Given the description of an element on the screen output the (x, y) to click on. 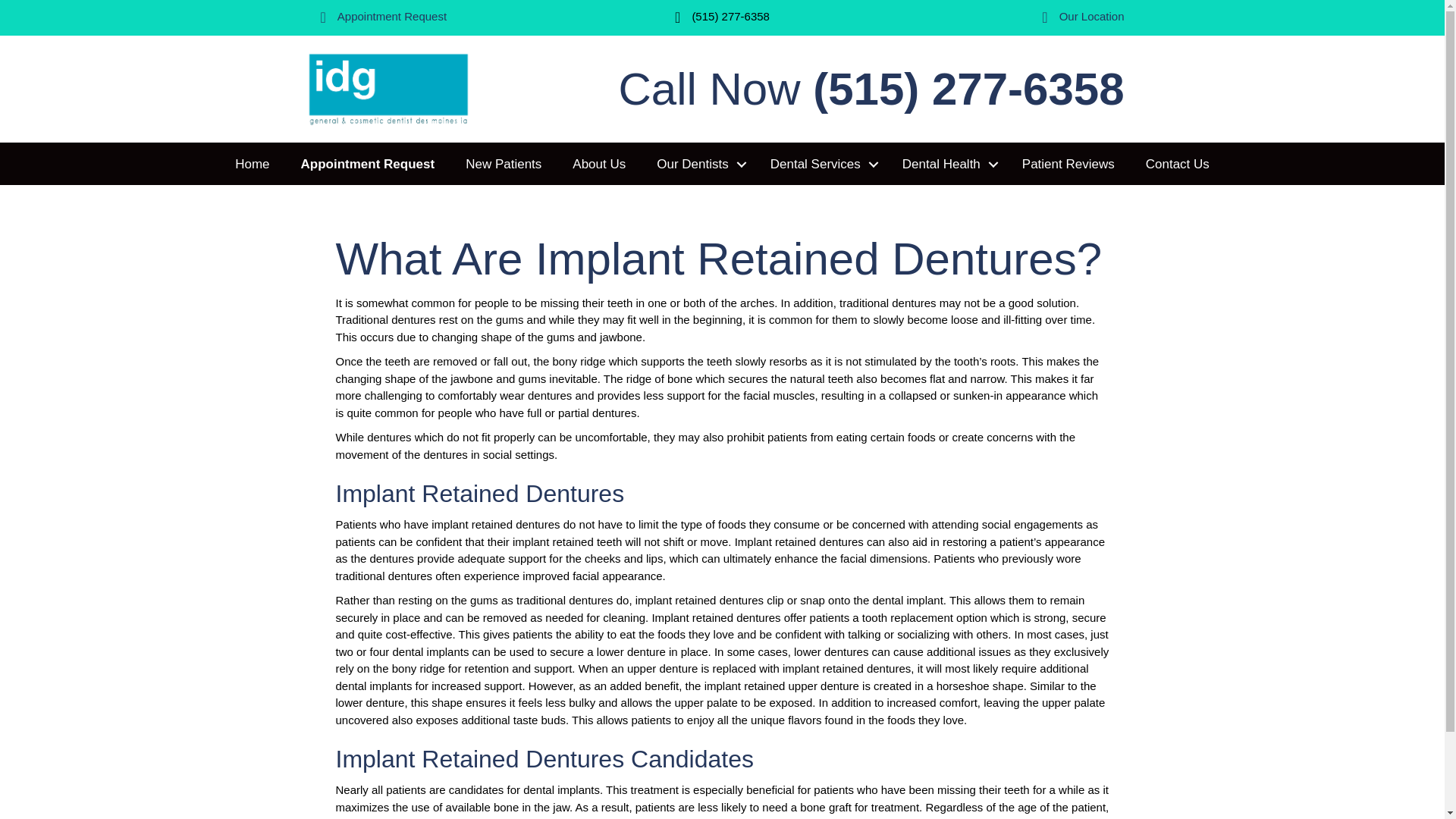
New Patients (502, 164)
Appointment Request (391, 16)
IowaDentalGroupLogowTagline (387, 88)
About Us (598, 164)
Appointment Request (367, 164)
Dental Services (820, 164)
Our Location (1091, 16)
Home (251, 164)
Our Dentists (698, 164)
